Given the description of an element on the screen output the (x, y) to click on. 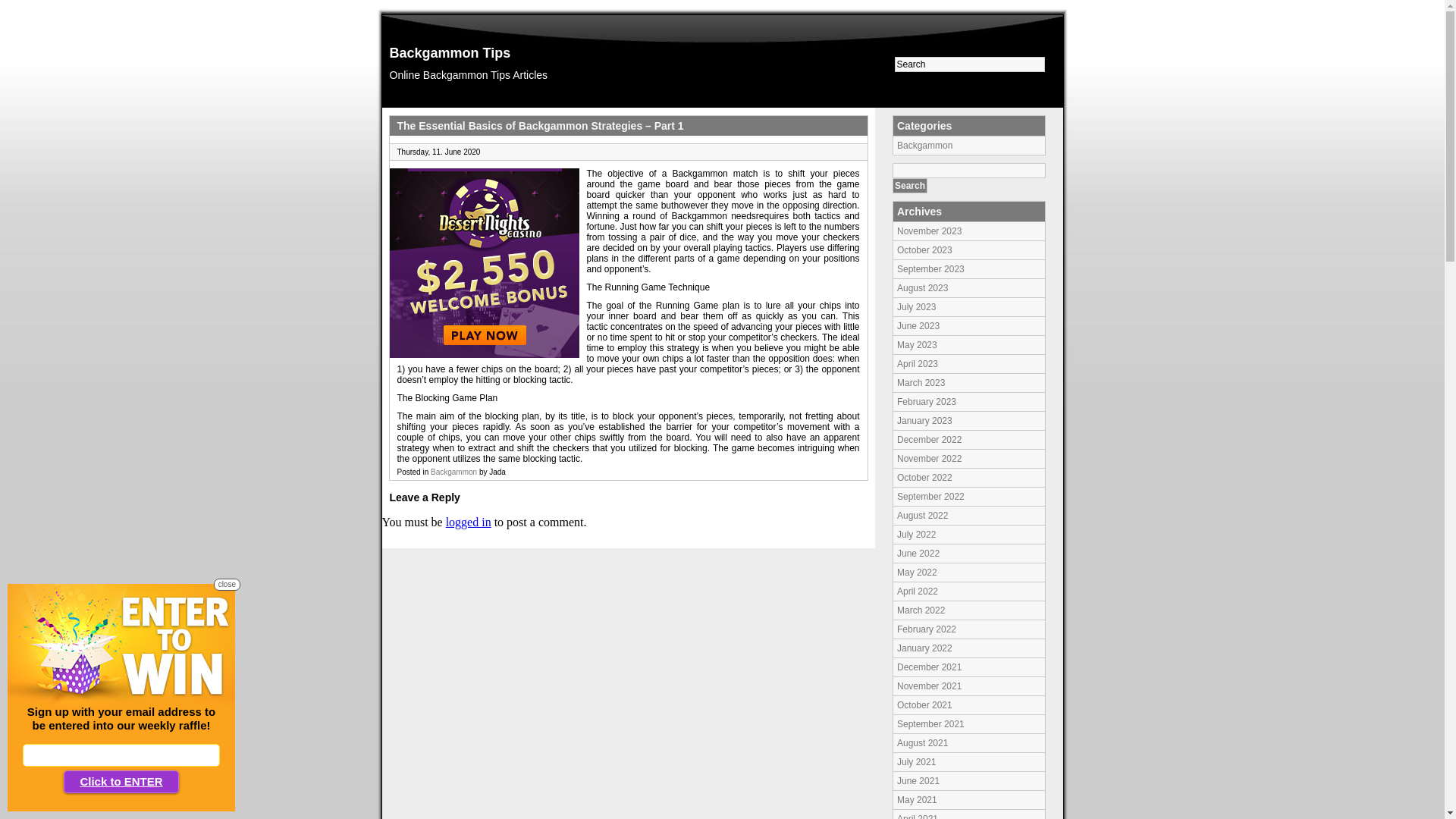
August 2023 Element type: text (922, 287)
June 2022 Element type: text (918, 553)
August 2021 Element type: text (922, 742)
May 2023 Element type: text (917, 344)
Click to ENTER Element type: text (120, 781)
January 2022 Element type: text (924, 648)
July 2023 Element type: text (916, 306)
January 2023 Element type: text (924, 420)
November 2022 Element type: text (929, 458)
May 2022 Element type: text (917, 572)
October 2021 Element type: text (924, 704)
October 2023 Element type: text (924, 249)
September 2023 Element type: text (930, 268)
June 2021 Element type: text (918, 780)
Backgammon Tips Element type: text (450, 52)
April 2023 Element type: text (917, 363)
May 2021 Element type: text (917, 799)
March 2022 Element type: text (920, 610)
March 2023 Element type: text (920, 382)
February 2022 Element type: text (926, 629)
September 2021 Element type: text (930, 723)
September 2022 Element type: text (930, 496)
April 2022 Element type: text (917, 591)
logged in Element type: text (468, 521)
July 2022 Element type: text (916, 534)
Backgammon Element type: text (453, 471)
December 2022 Element type: text (929, 439)
Search Element type: text (909, 185)
December 2021 Element type: text (929, 667)
Backgammon Element type: text (924, 145)
August 2022 Element type: text (922, 515)
July 2021 Element type: text (916, 761)
October 2022 Element type: text (924, 477)
November 2023 Element type: text (929, 230)
November 2021 Element type: text (929, 685)
February 2023 Element type: text (926, 401)
June 2023 Element type: text (918, 325)
